Given the description of an element on the screen output the (x, y) to click on. 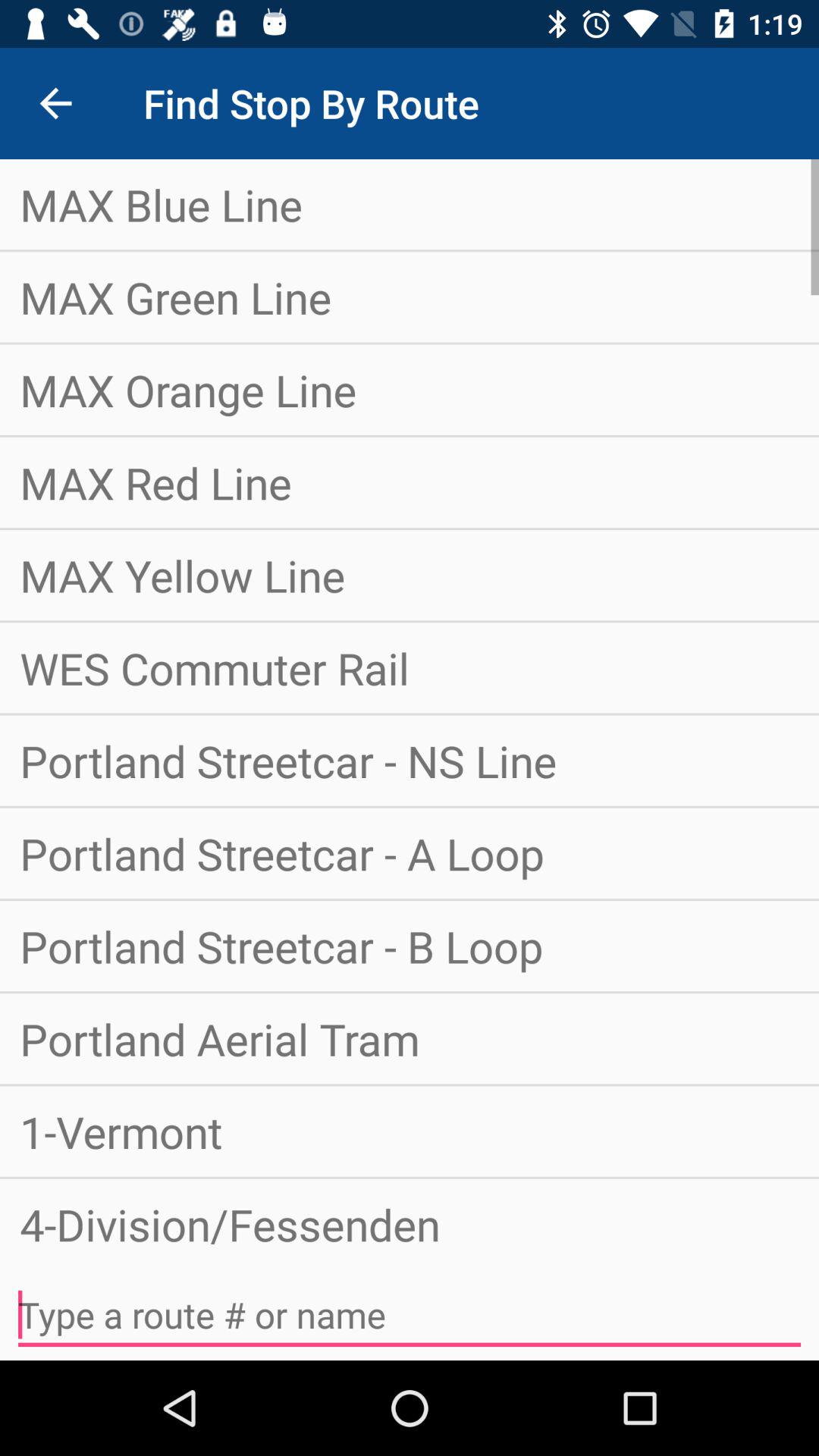
click the icon below the portland streetcar b (409, 1038)
